Given the description of an element on the screen output the (x, y) to click on. 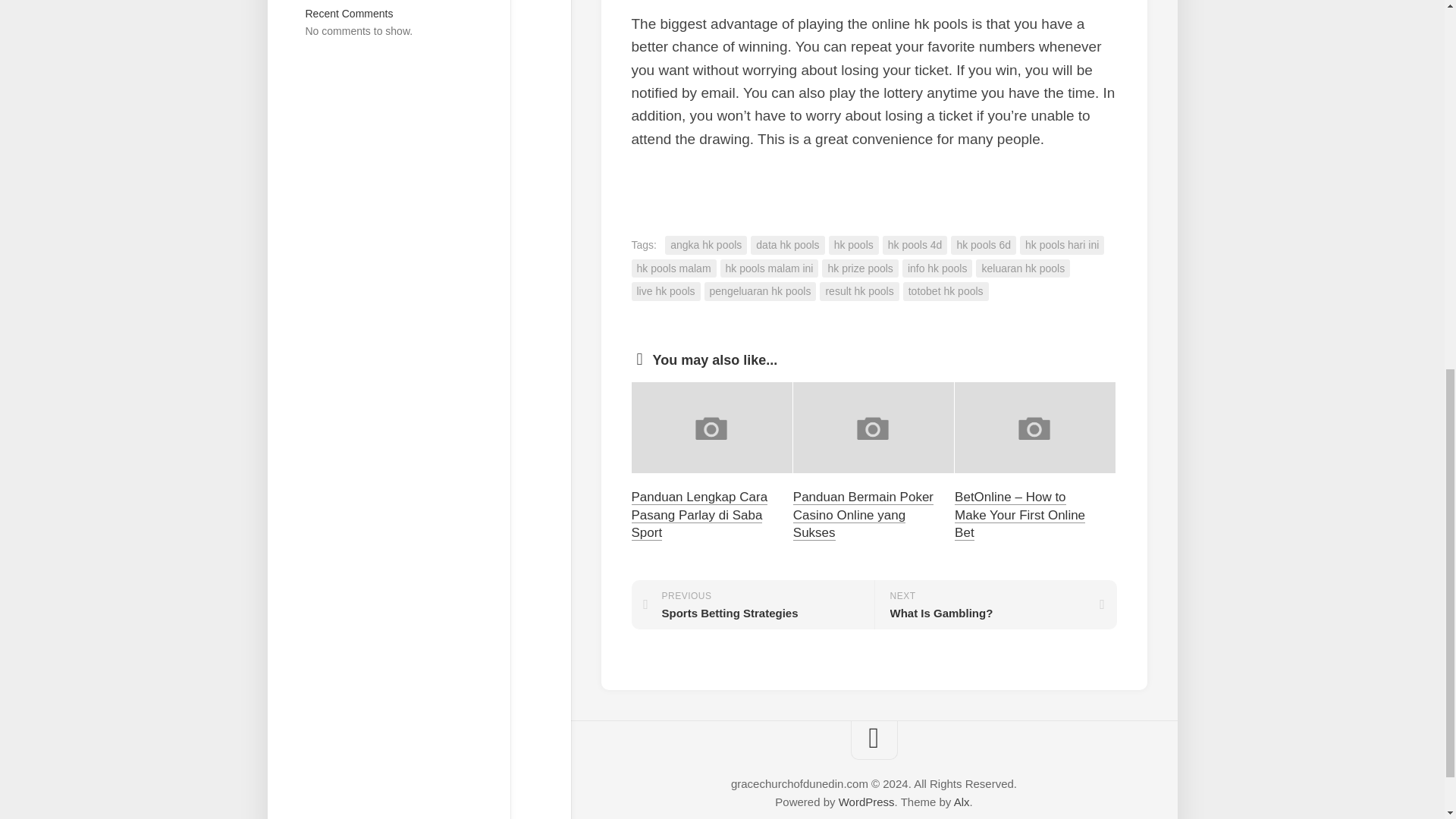
pengeluaran hk pools (760, 291)
hk pools malam (673, 268)
hk pools hari ini (1061, 244)
Panduan Lengkap Cara Pasang Parlay di Saba Sport (698, 514)
hk pools malam ini (769, 268)
totobet hk pools (945, 291)
info hk pools (937, 268)
result hk pools (858, 291)
hk pools (853, 244)
live hk pools (665, 291)
